Given the description of an element on the screen output the (x, y) to click on. 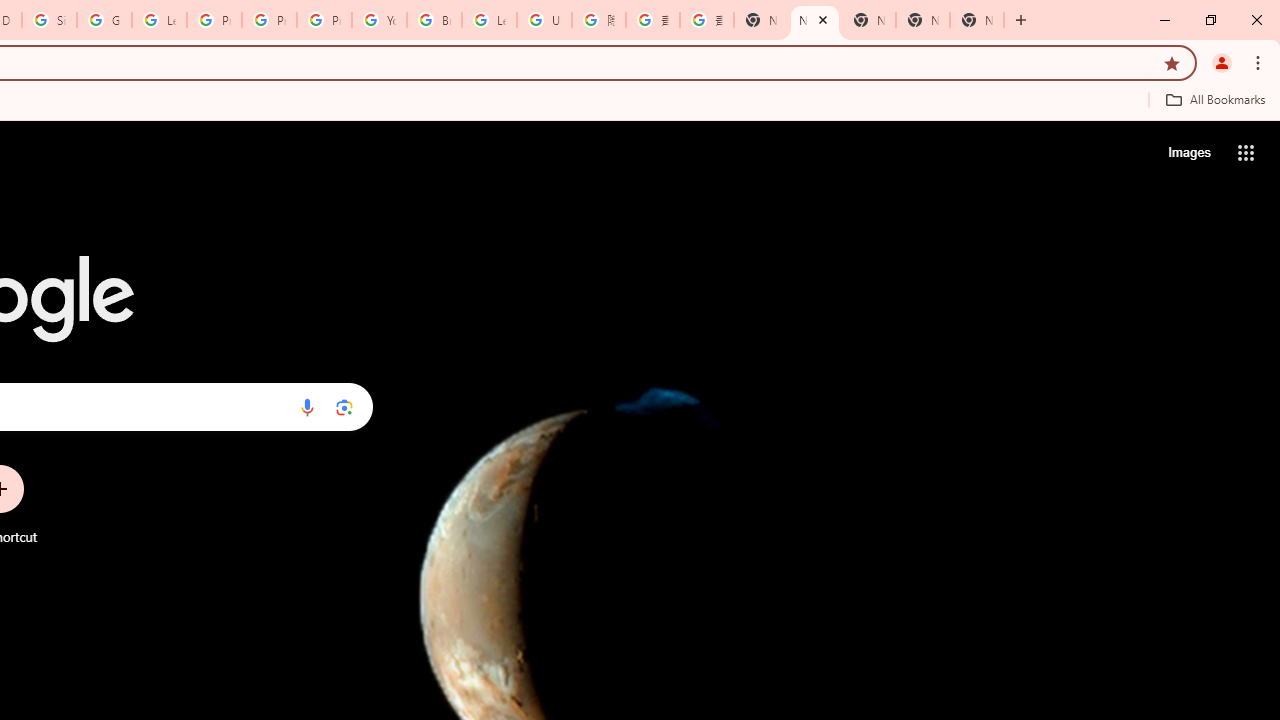
New Tab (760, 20)
New Tab (976, 20)
YouTube (379, 20)
Privacy Help Center - Policies Help (213, 20)
